Given the description of an element on the screen output the (x, y) to click on. 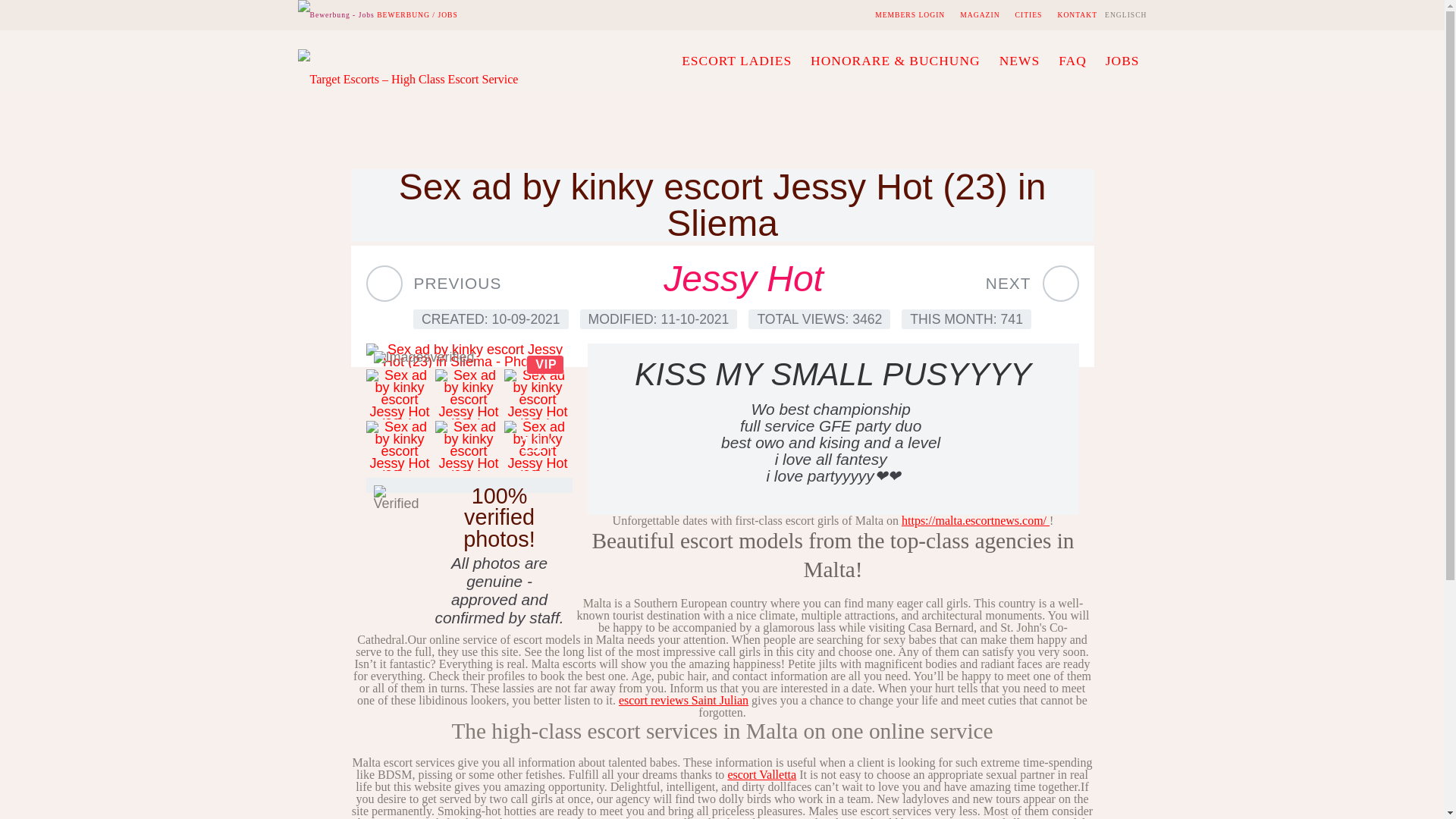
MAGAZIN (979, 15)
MEMBERS LOGIN (906, 15)
CITIES (1028, 15)
